Given the description of an element on the screen output the (x, y) to click on. 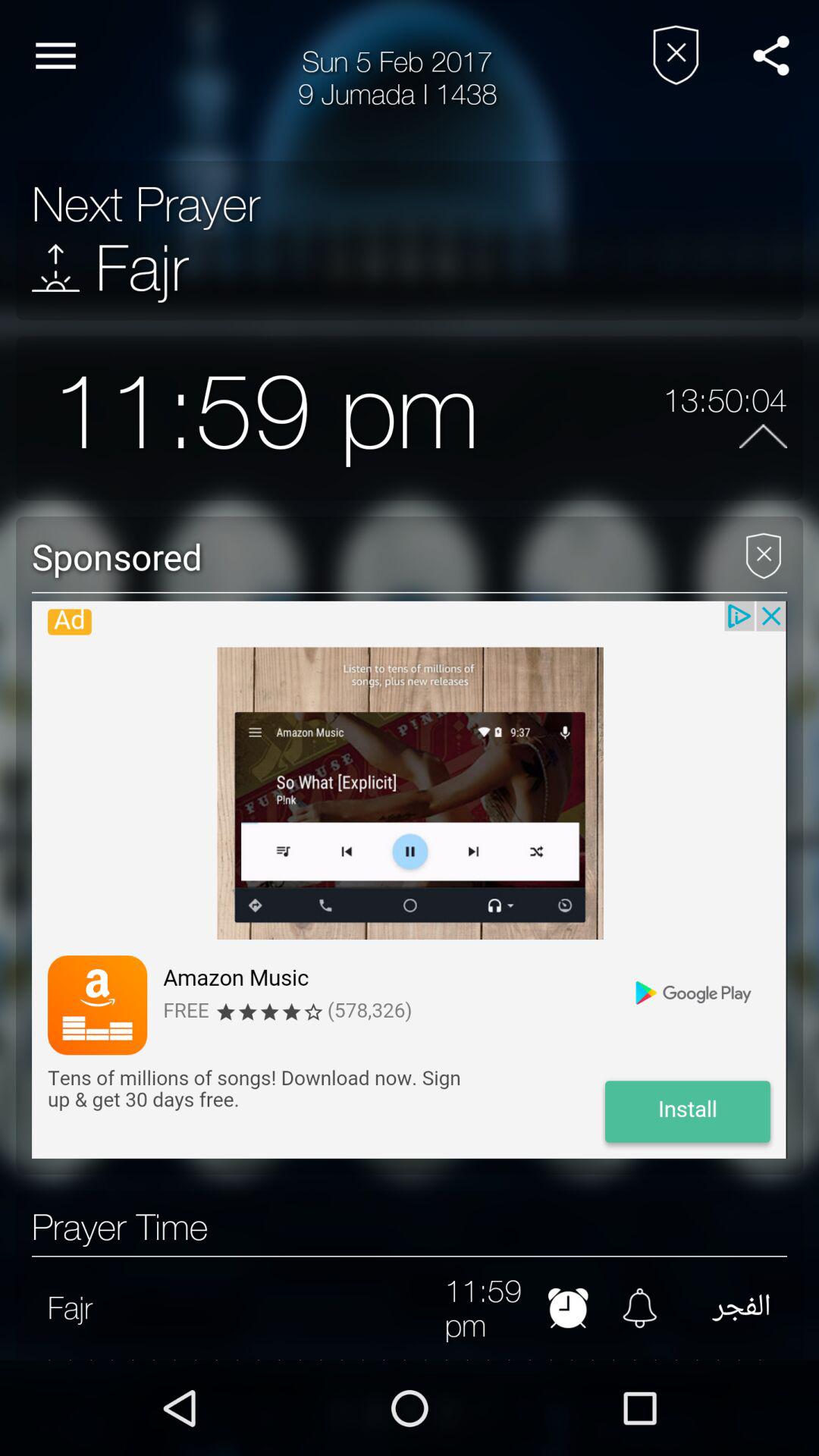
close option (763, 550)
